Given the description of an element on the screen output the (x, y) to click on. 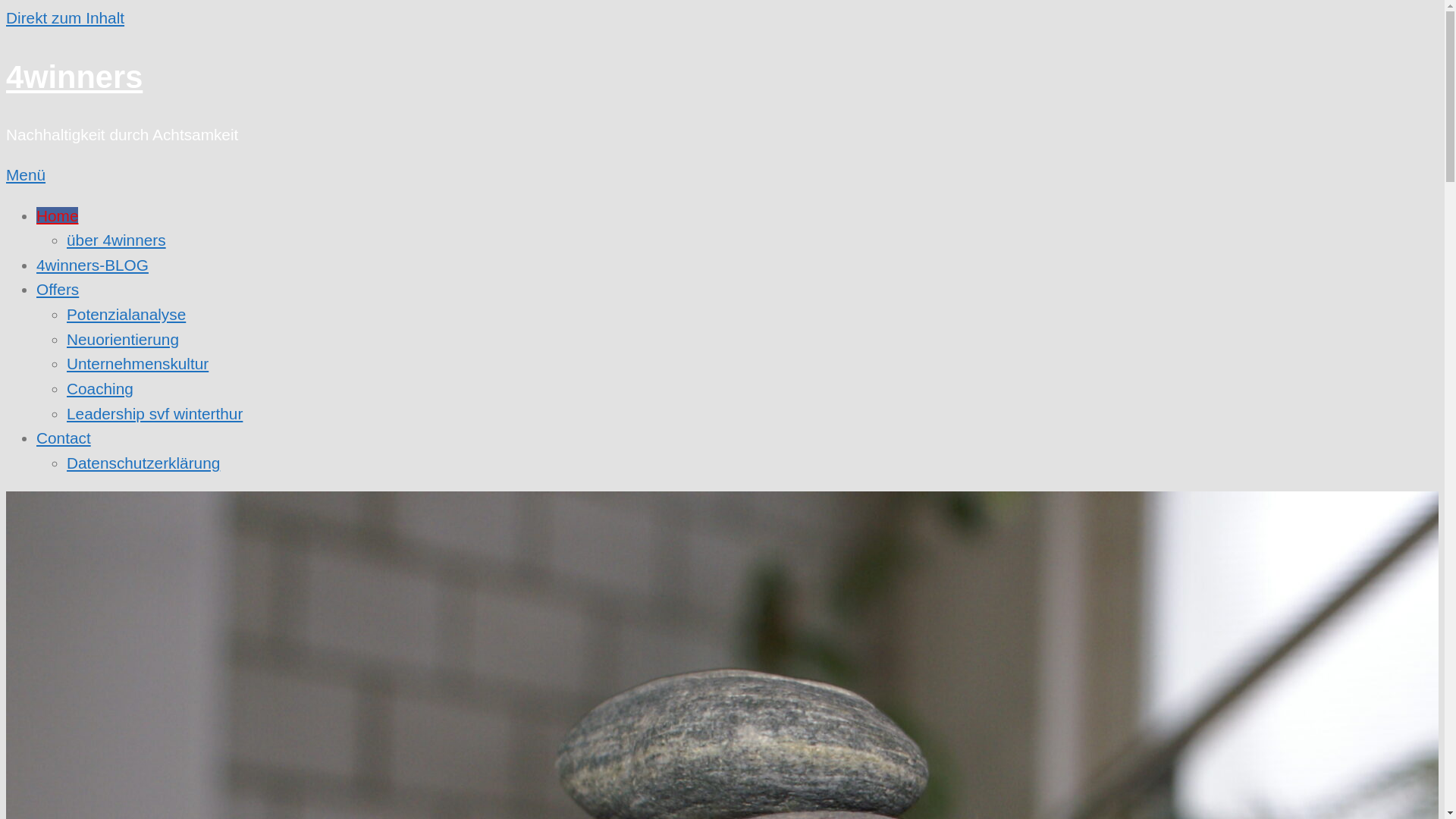
Home Element type: text (57, 215)
Contact Element type: text (69, 437)
Neuorientierung Element type: text (122, 339)
4winners-BLOG Element type: text (92, 264)
Coaching Element type: text (99, 388)
Leadership svf winterthur Element type: text (154, 413)
4winners Element type: text (74, 76)
Direkt zum Inhalt Element type: text (65, 17)
Potenzialanalyse Element type: text (125, 314)
Offers Element type: text (57, 289)
Unternehmenskultur Element type: text (137, 363)
